Given the description of an element on the screen output the (x, y) to click on. 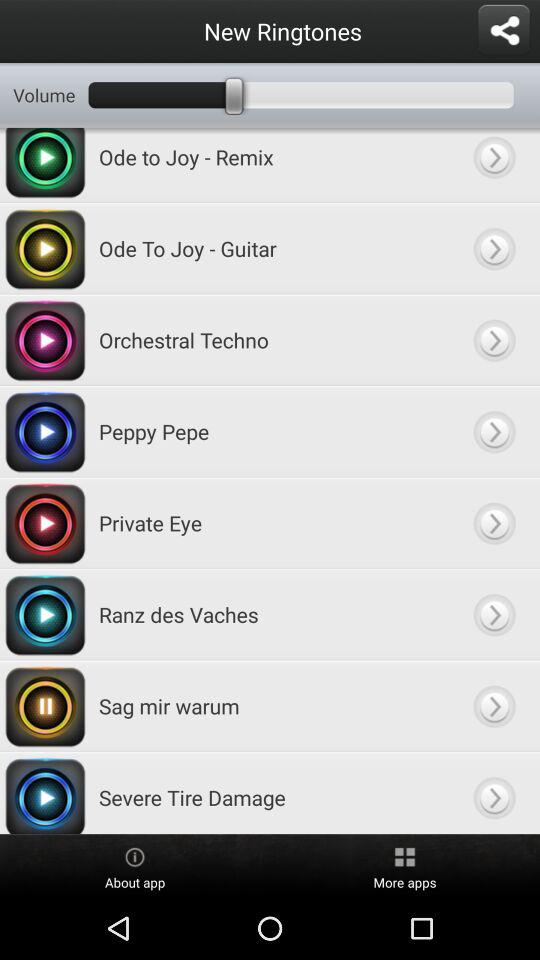
select ringtone (494, 248)
